Given the description of an element on the screen output the (x, y) to click on. 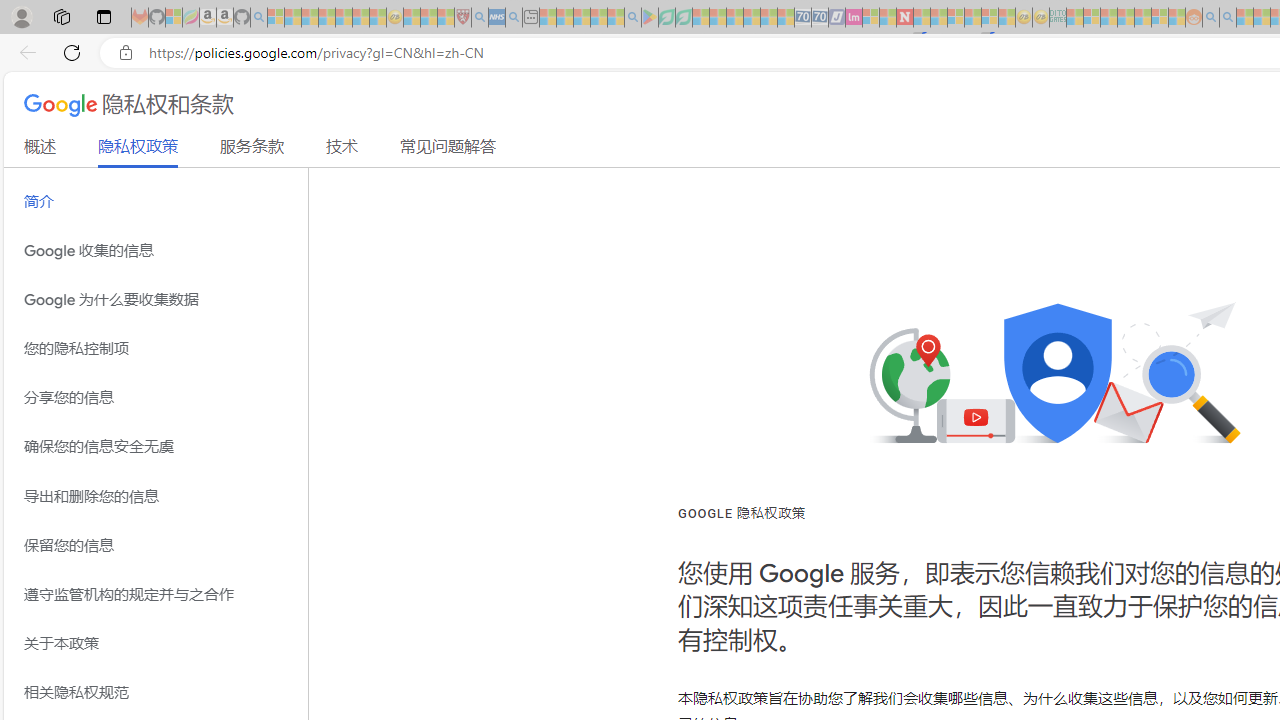
14 Common Myths Debunked By Scientific Facts - Sleeping (938, 17)
Cheap Hotels - Save70.com - Sleeping (819, 17)
